Given the description of an element on the screen output the (x, y) to click on. 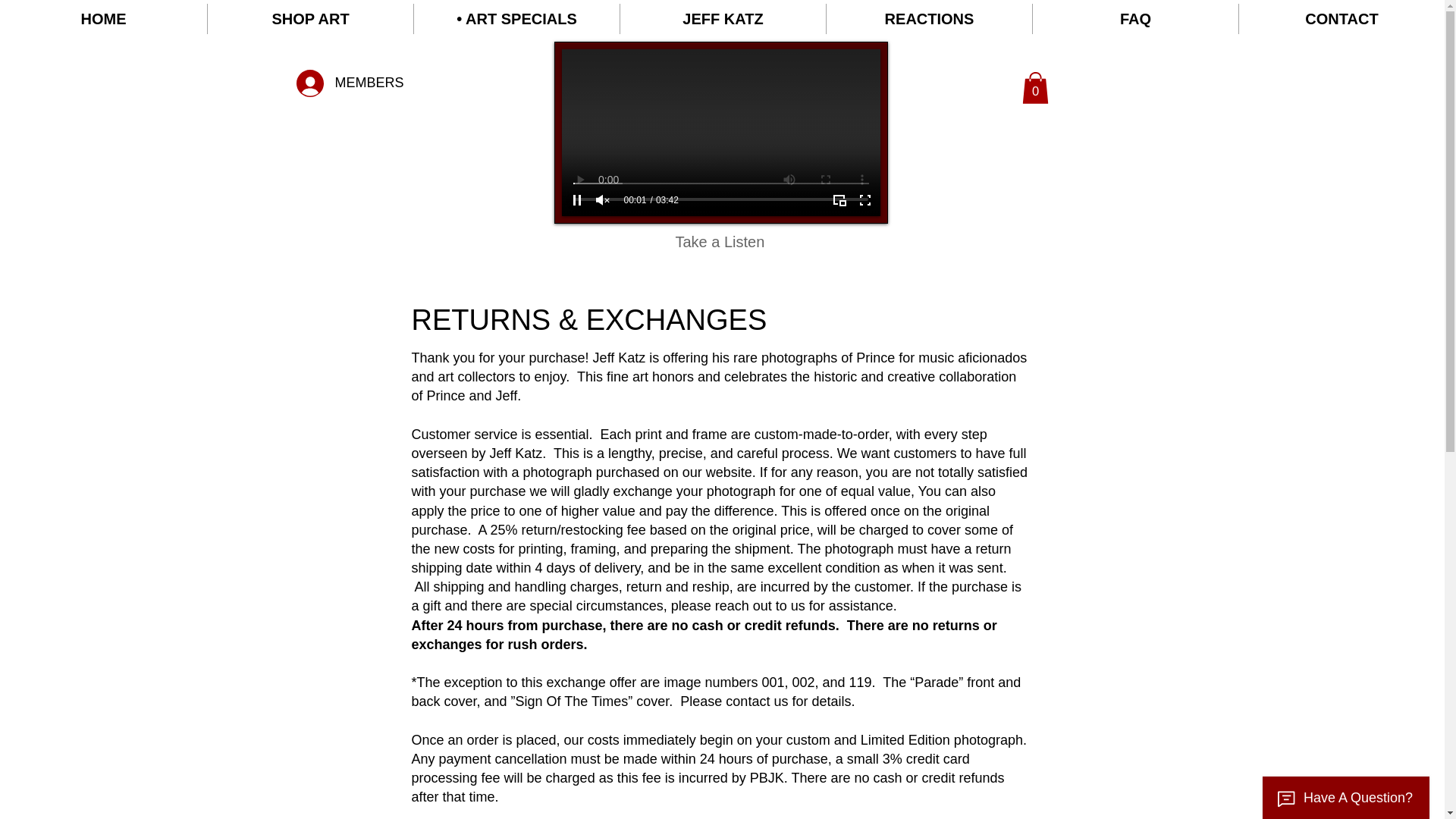
JEFF KATZ (722, 19)
REACTIONS (929, 19)
MEMBERS (349, 83)
FAQ (1135, 19)
HOME (103, 19)
SHOP ART (310, 19)
